Given the description of an element on the screen output the (x, y) to click on. 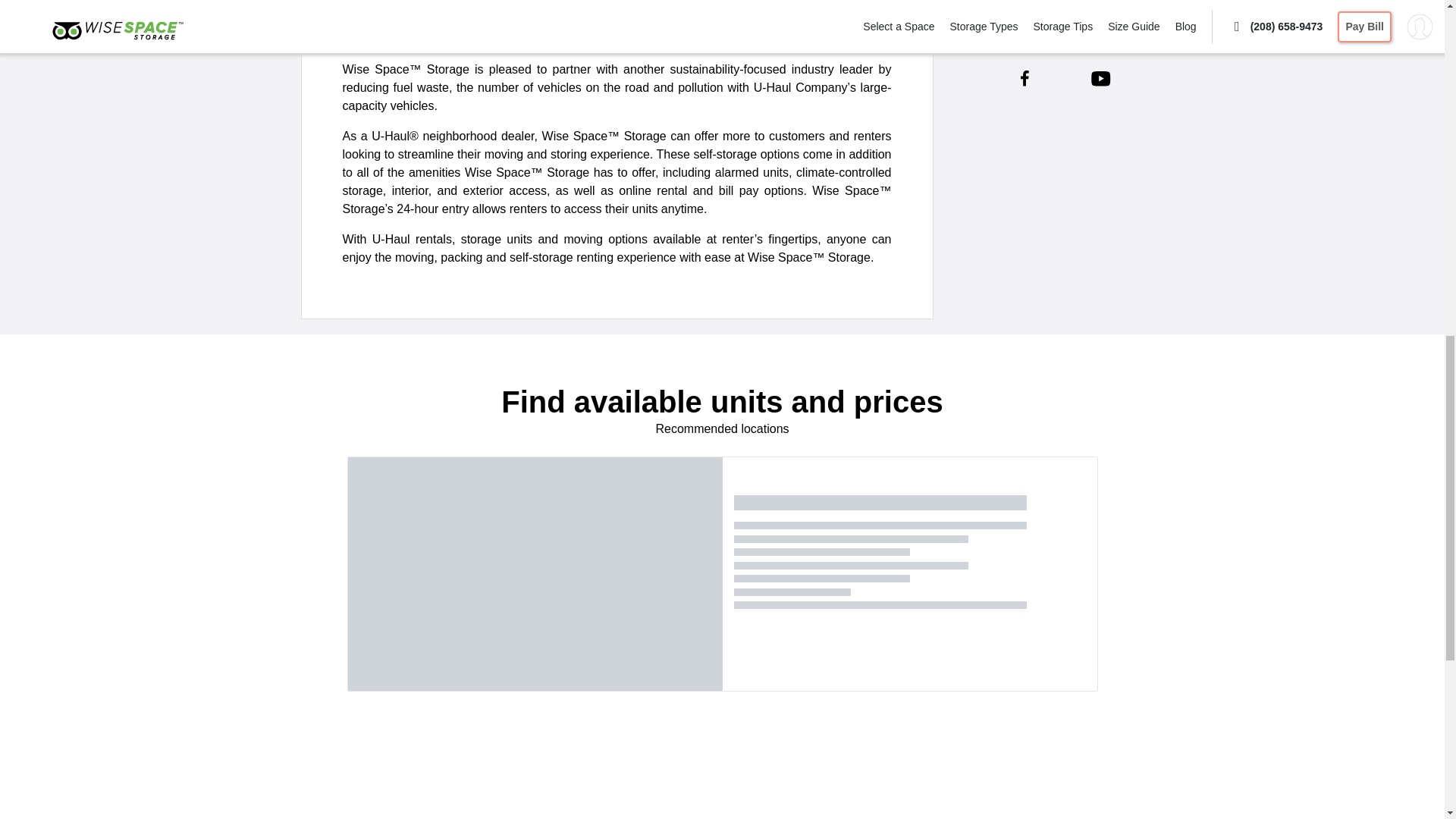
youtube (1099, 78)
